Given the description of an element on the screen output the (x, y) to click on. 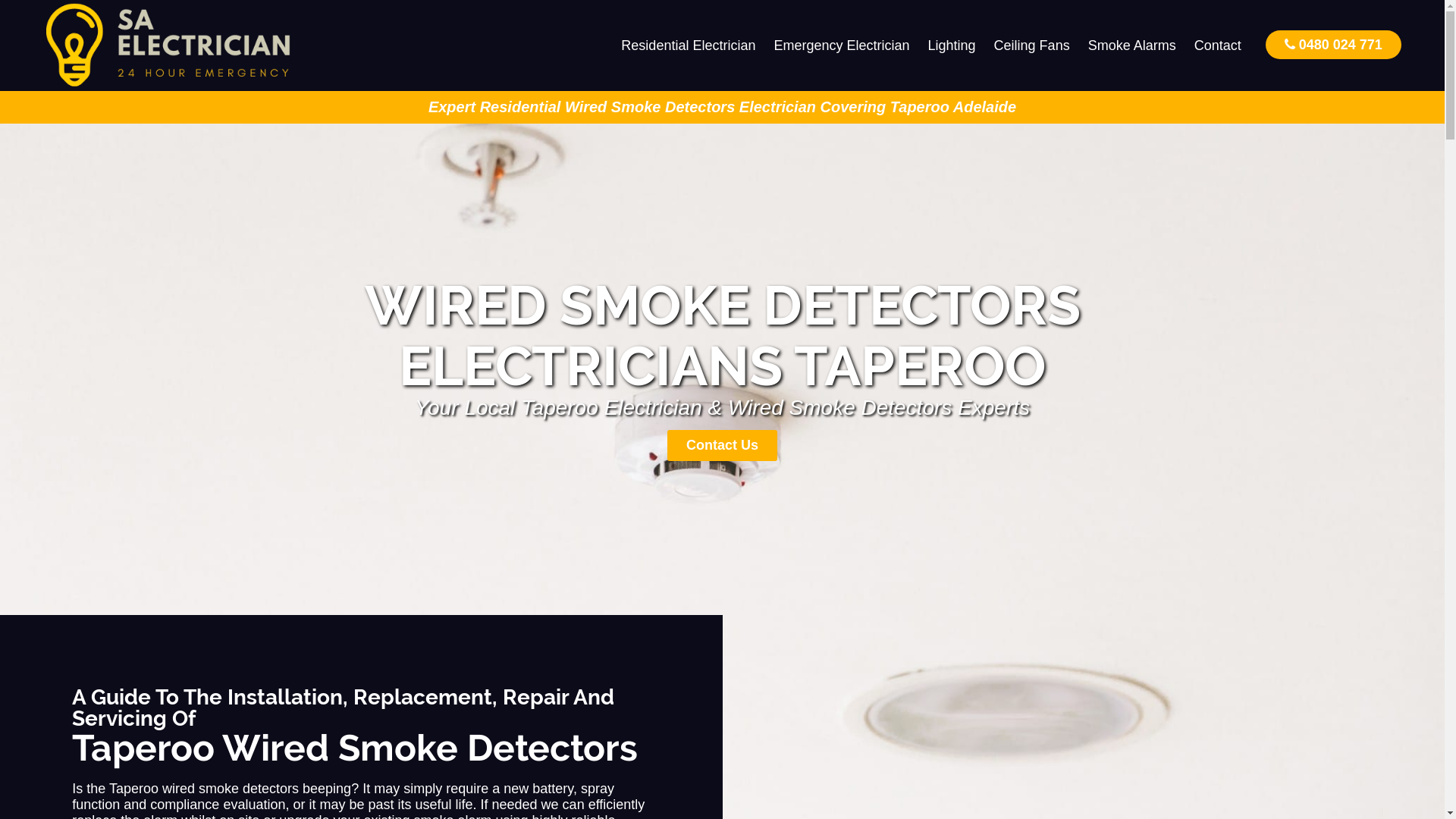
Contact Us Element type: text (722, 445)
Smoke Alarms Element type: text (1132, 45)
Lighting Element type: text (952, 45)
Contact Element type: text (1217, 45)
Emergency Electrician Element type: text (841, 45)
0480 024 771 Element type: text (1333, 44)
Residential Electrician Element type: text (687, 45)
Ceiling Fans Element type: text (1032, 45)
